Given the description of an element on the screen output the (x, y) to click on. 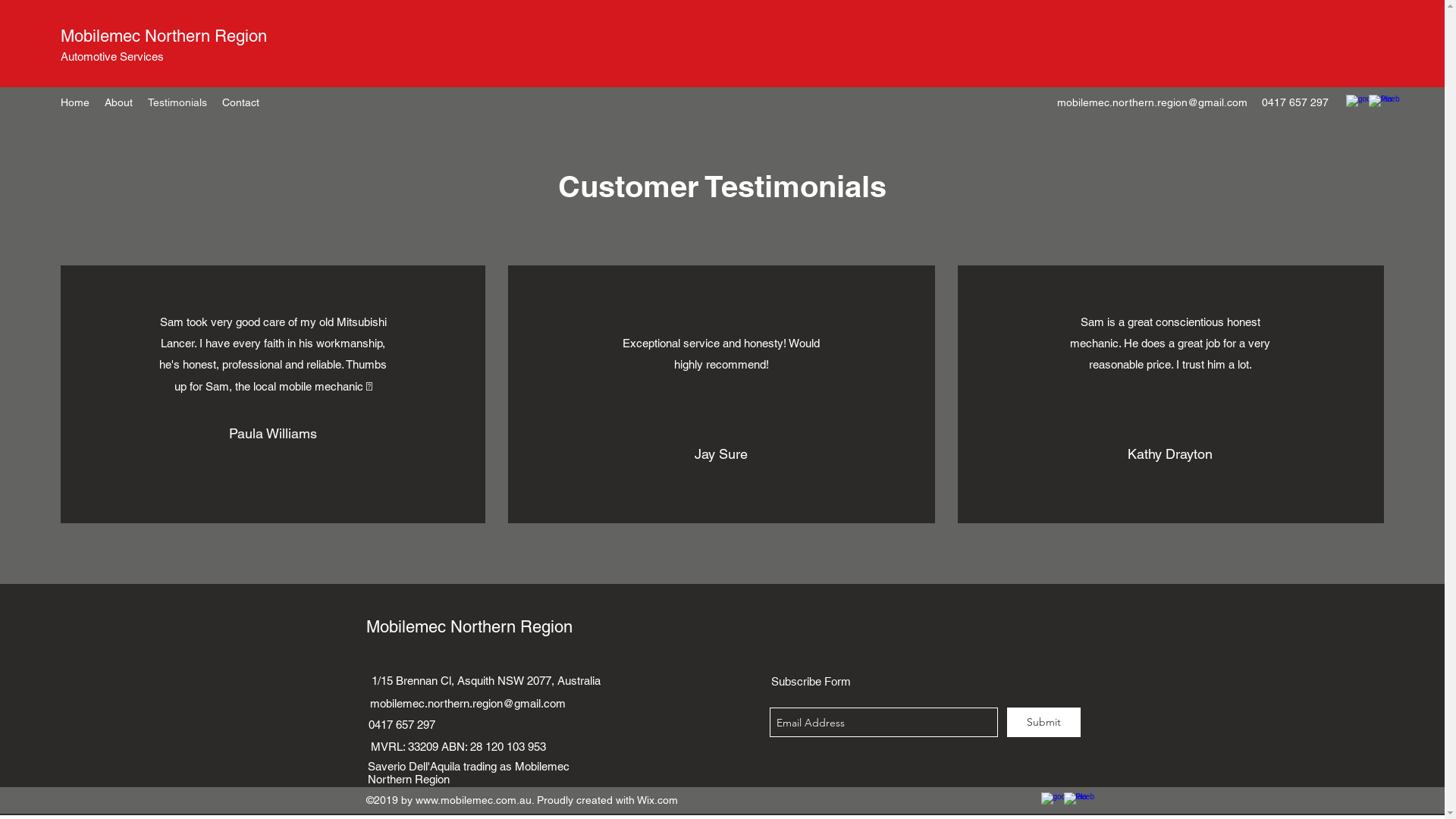
mobilemec.northern.region@gmail.com Element type: text (1152, 102)
www.mobilemec.com.au Element type: text (473, 799)
About Element type: text (118, 102)
Mobilemec Northern Region Element type: text (163, 35)
Mobilemec Northern Region Element type: text (468, 626)
mobilemec.northern.region@gmail.com Element type: text (467, 702)
Home Element type: text (75, 102)
Wix Get Subscribers Element type: hover (924, 701)
Contact Element type: text (240, 102)
Testimonials Element type: text (177, 102)
